Given the description of an element on the screen output the (x, y) to click on. 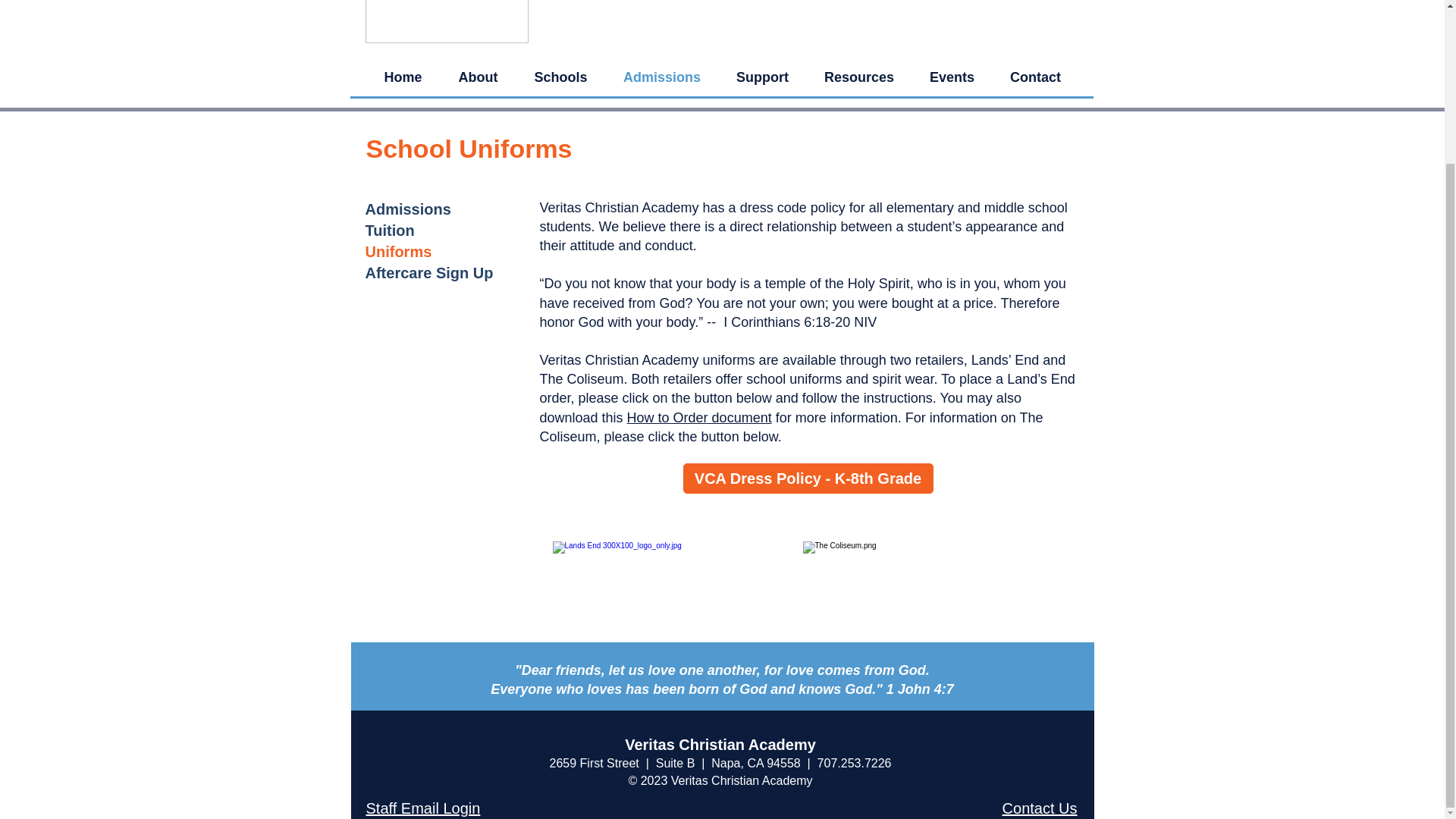
Admissions (661, 77)
Support (762, 77)
Contact Us (1040, 808)
How to Order document (699, 417)
VCA Dress Policy - K-8th Grade (807, 478)
Admissions (408, 208)
Staff Email Login (422, 808)
Contact (1034, 77)
Tuition (389, 230)
Uniforms (398, 251)
